Given the description of an element on the screen output the (x, y) to click on. 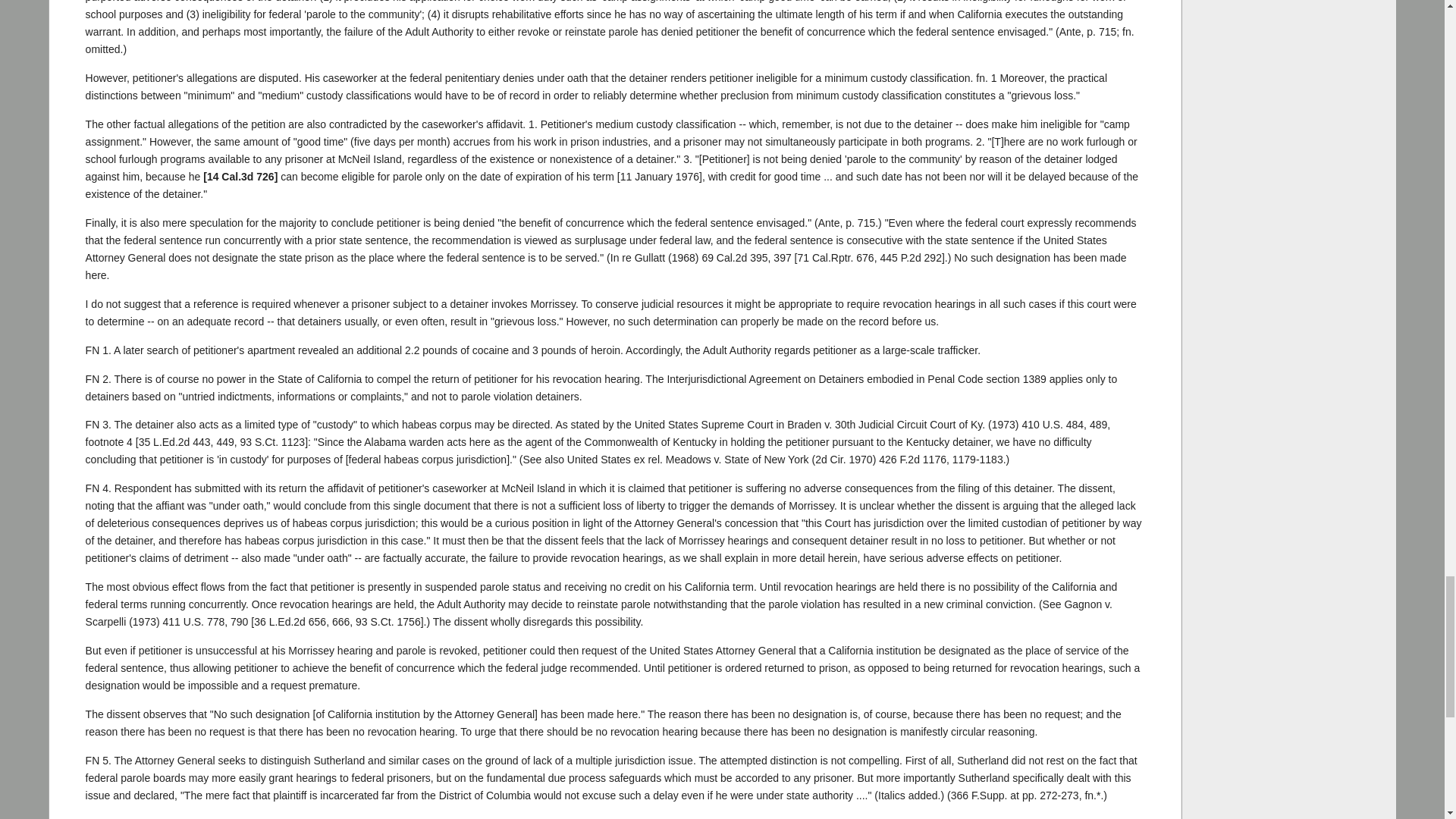
In re Gullatt (734, 257)
fn. 1 (985, 78)
69 Cal.2d 395 (734, 257)
